Given the description of an element on the screen output the (x, y) to click on. 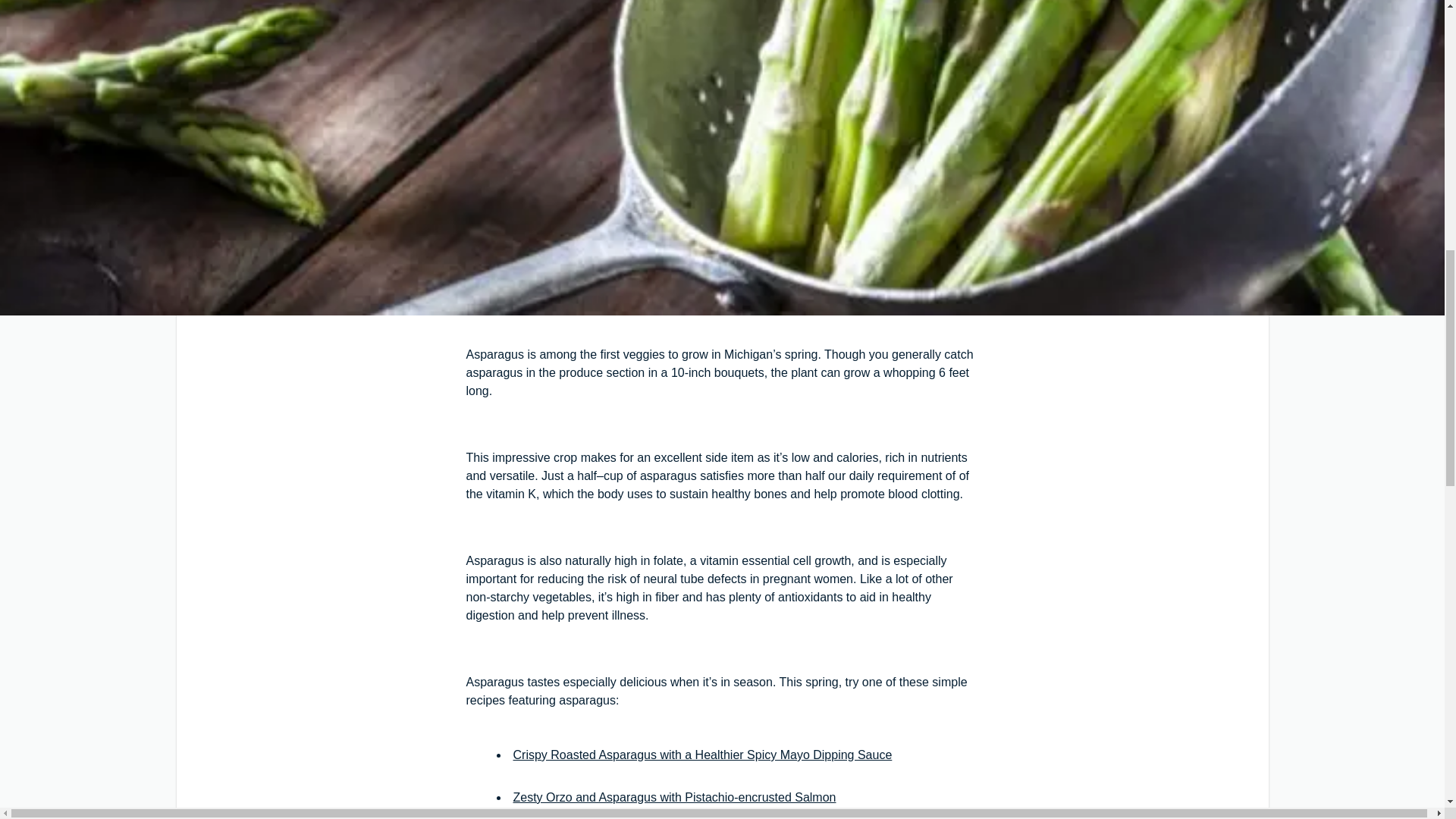
Zesty Orzo and Asparagus with Pistachio-encrusted Salmon (673, 797)
